Given the description of an element on the screen output the (x, y) to click on. 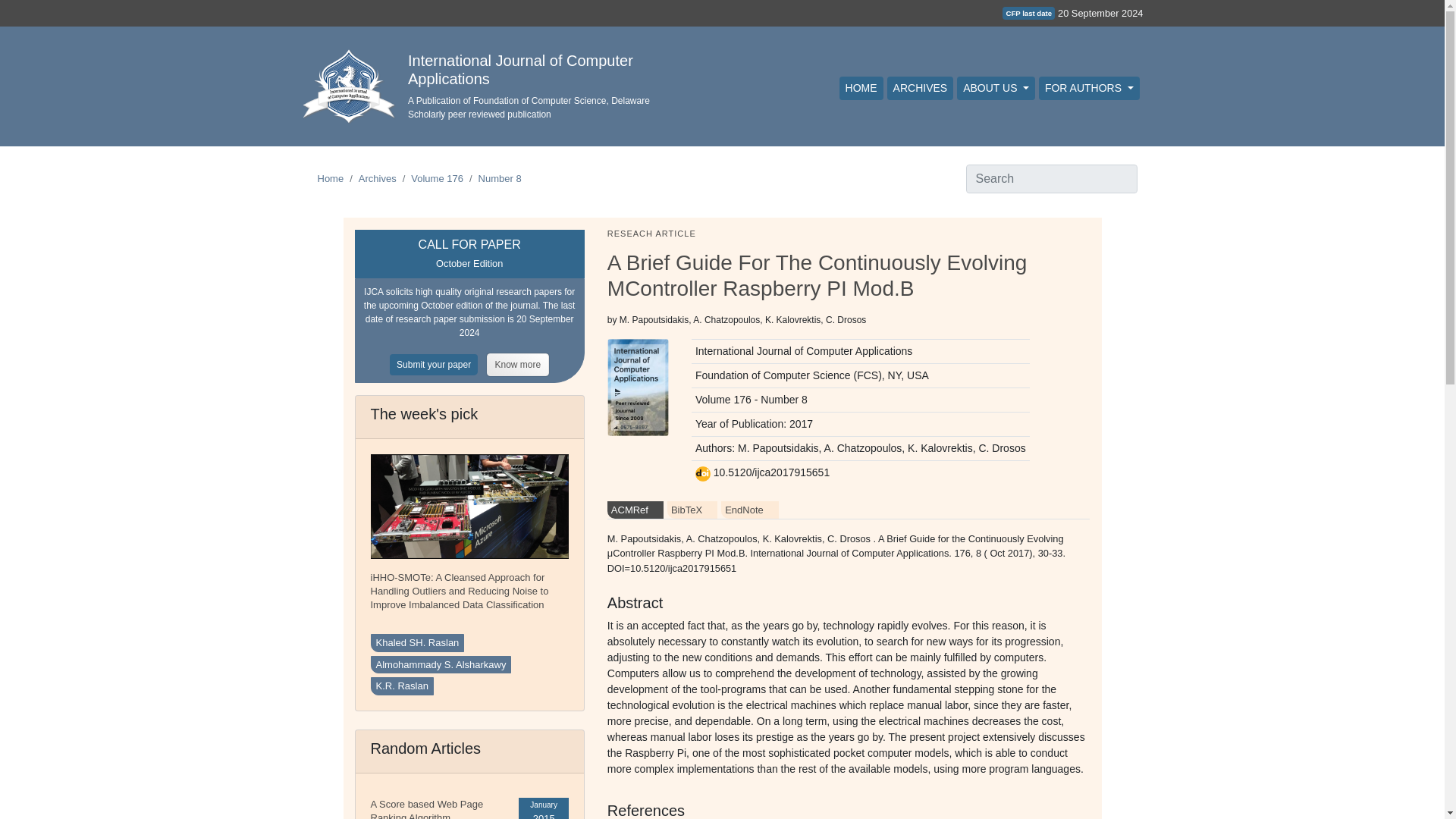
ARCHIVES (919, 87)
BibTeX (691, 510)
ACMRef (635, 510)
FOR AUTHORS (1089, 87)
Archives (377, 178)
Number 8 (500, 178)
Volume 176 (436, 178)
Submit your paper (438, 363)
A Score based Web Page Ranking Algorithm (426, 808)
K.R. Raslan (400, 686)
